Given the description of an element on the screen output the (x, y) to click on. 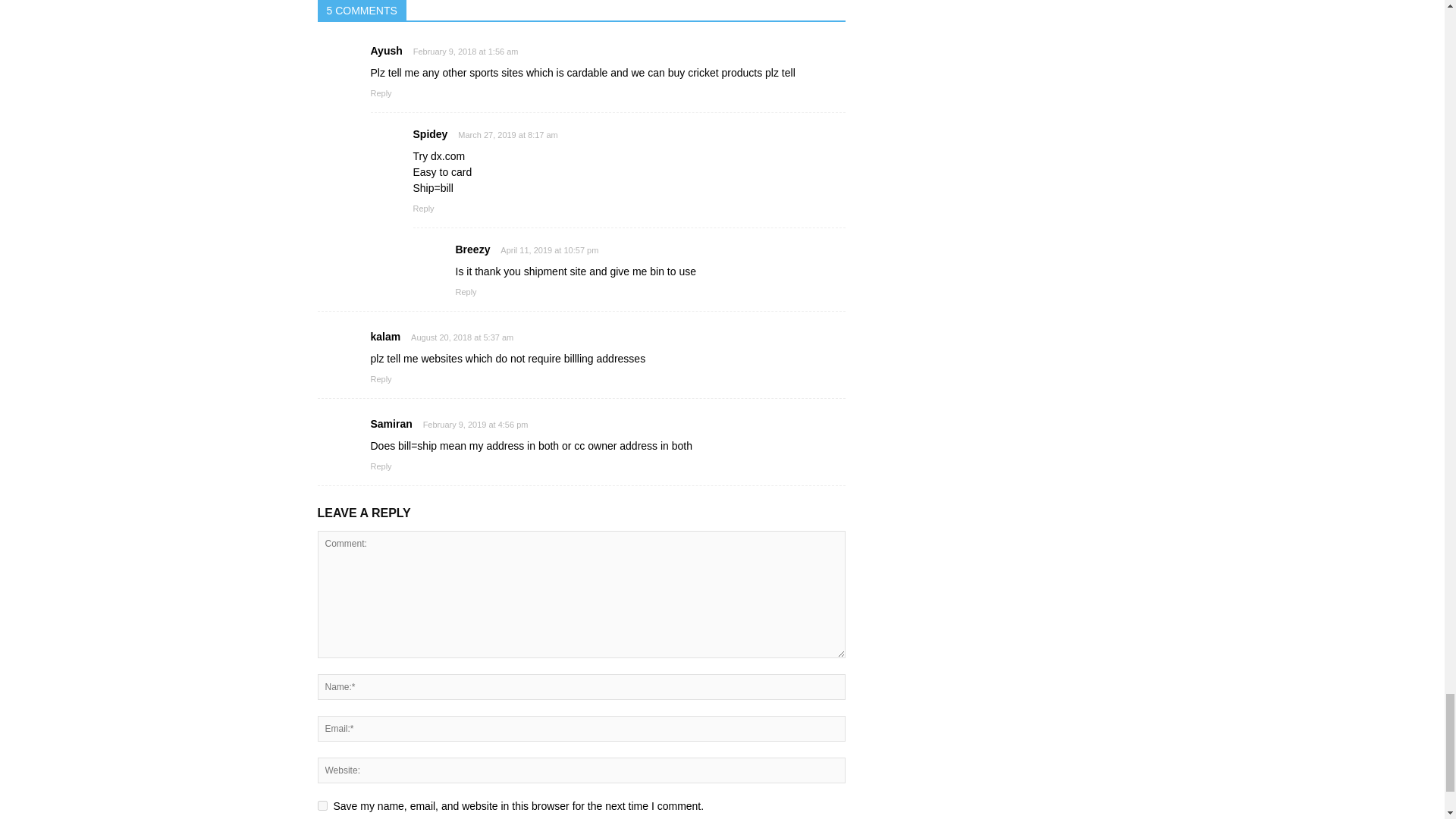
yes (321, 805)
